Given the description of an element on the screen output the (x, y) to click on. 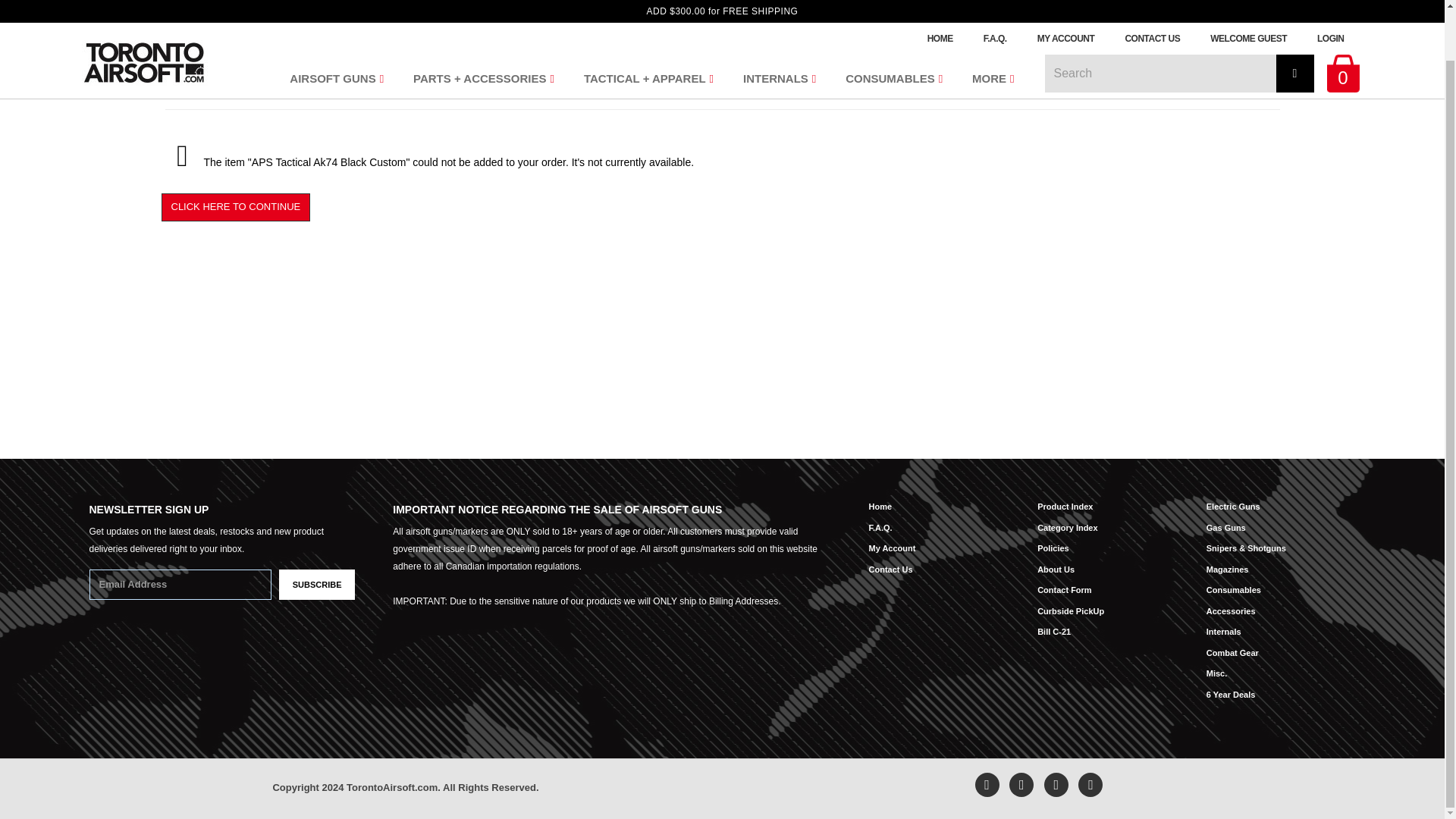
0 (1342, 28)
Click here to continue (235, 207)
AIRSOFT GUNS (334, 24)
